Given the description of an element on the screen output the (x, y) to click on. 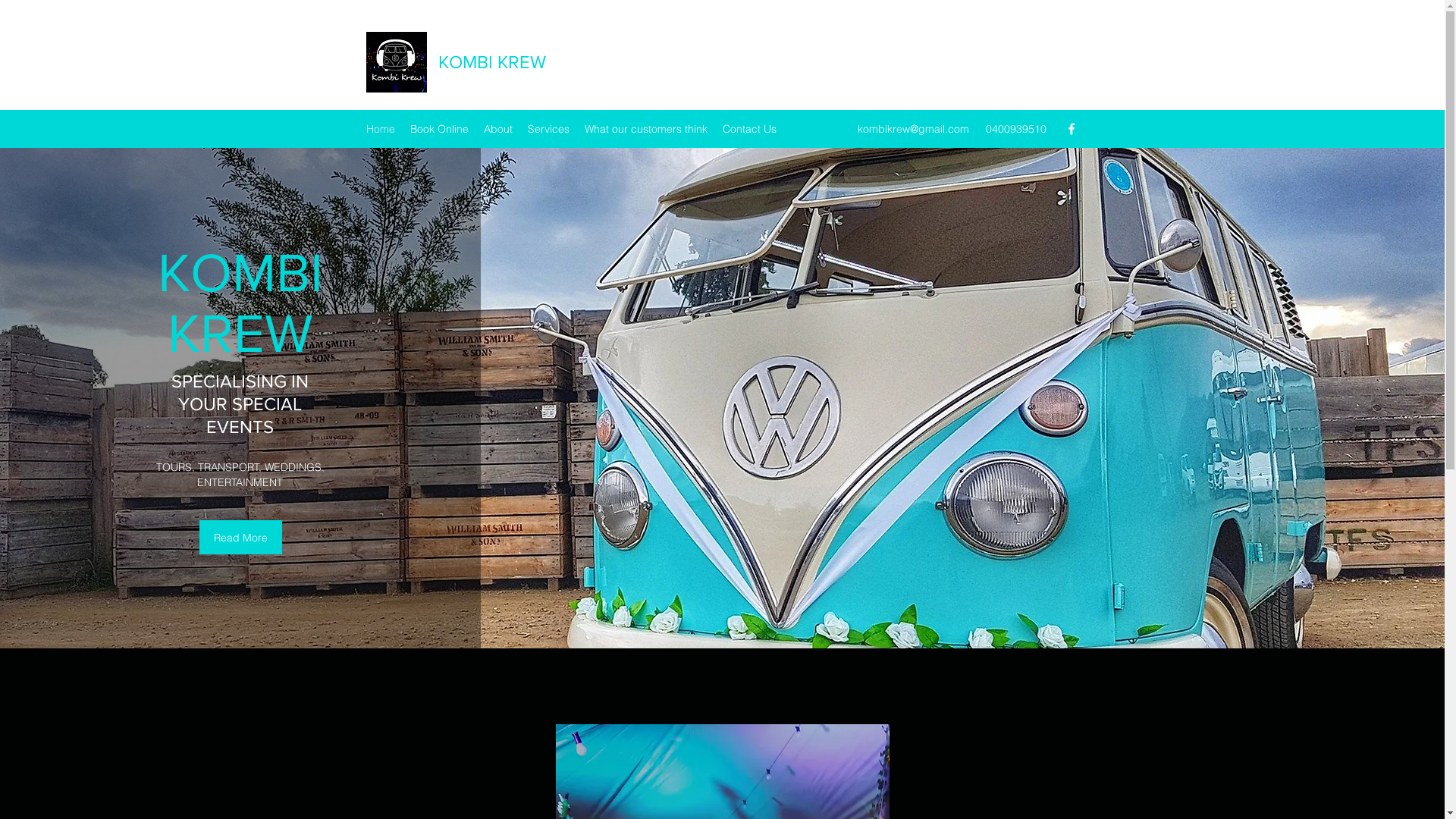
Read More Element type: text (240, 537)
Home Element type: text (379, 128)
About Element type: text (498, 128)
What our customers think Element type: text (645, 128)
Book Online Element type: text (438, 128)
kombikrew@gmail.com Element type: text (912, 128)
Contact Us Element type: text (748, 128)
Services Element type: text (548, 128)
